Given the description of an element on the screen output the (x, y) to click on. 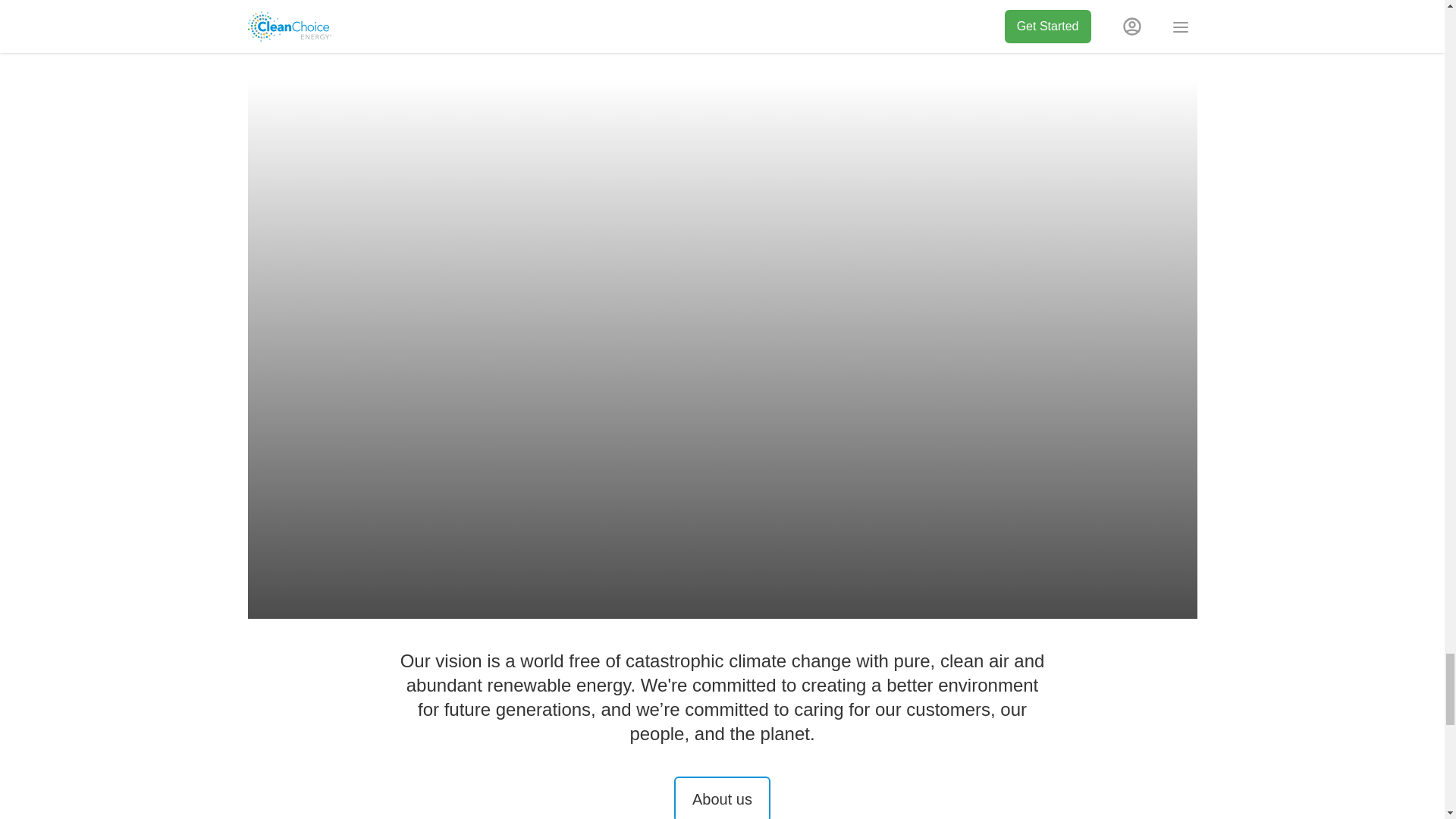
About us (722, 797)
